Given the description of an element on the screen output the (x, y) to click on. 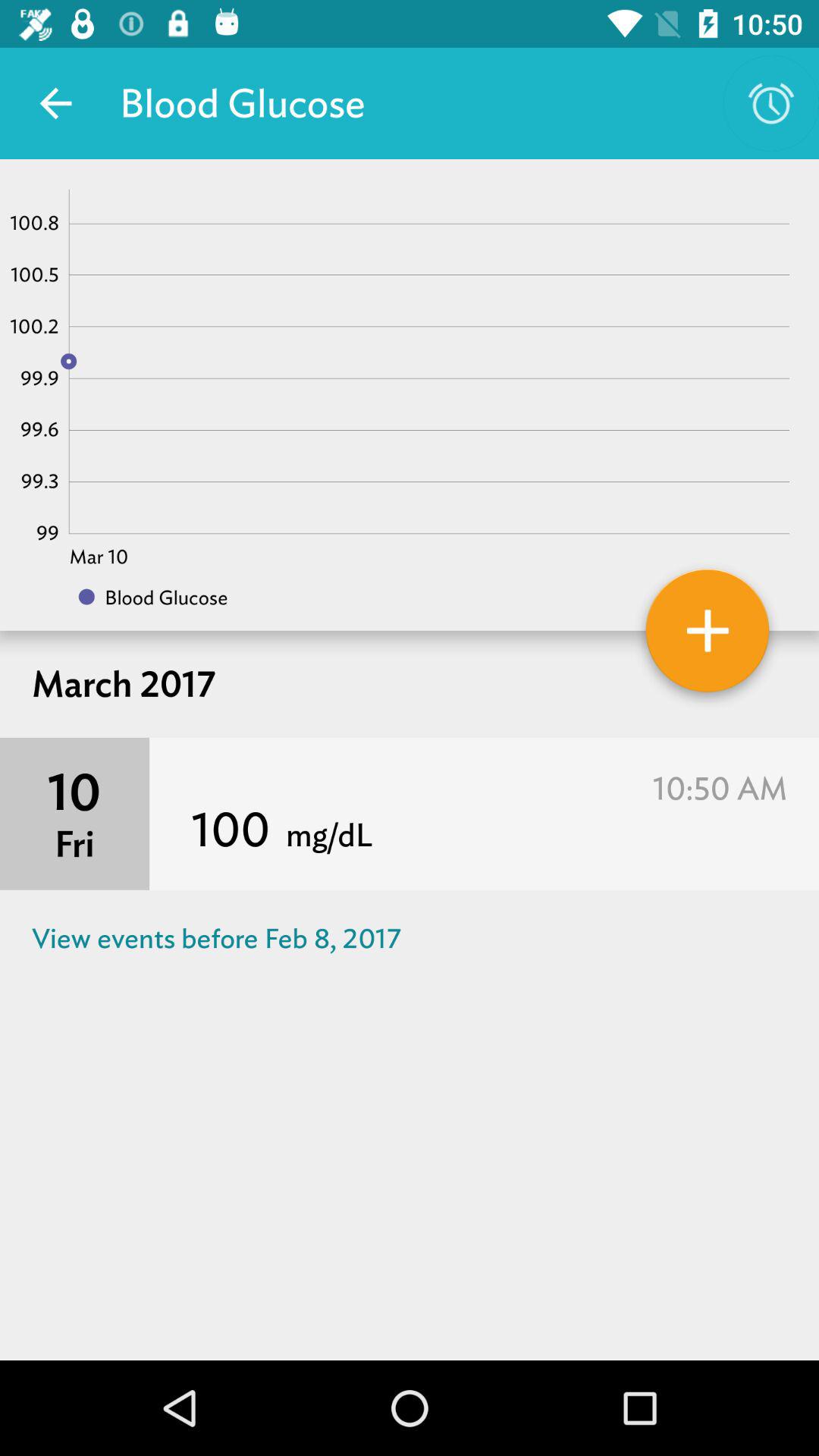
turn on icon to the right of the blood glucose icon (771, 103)
